Given the description of an element on the screen output the (x, y) to click on. 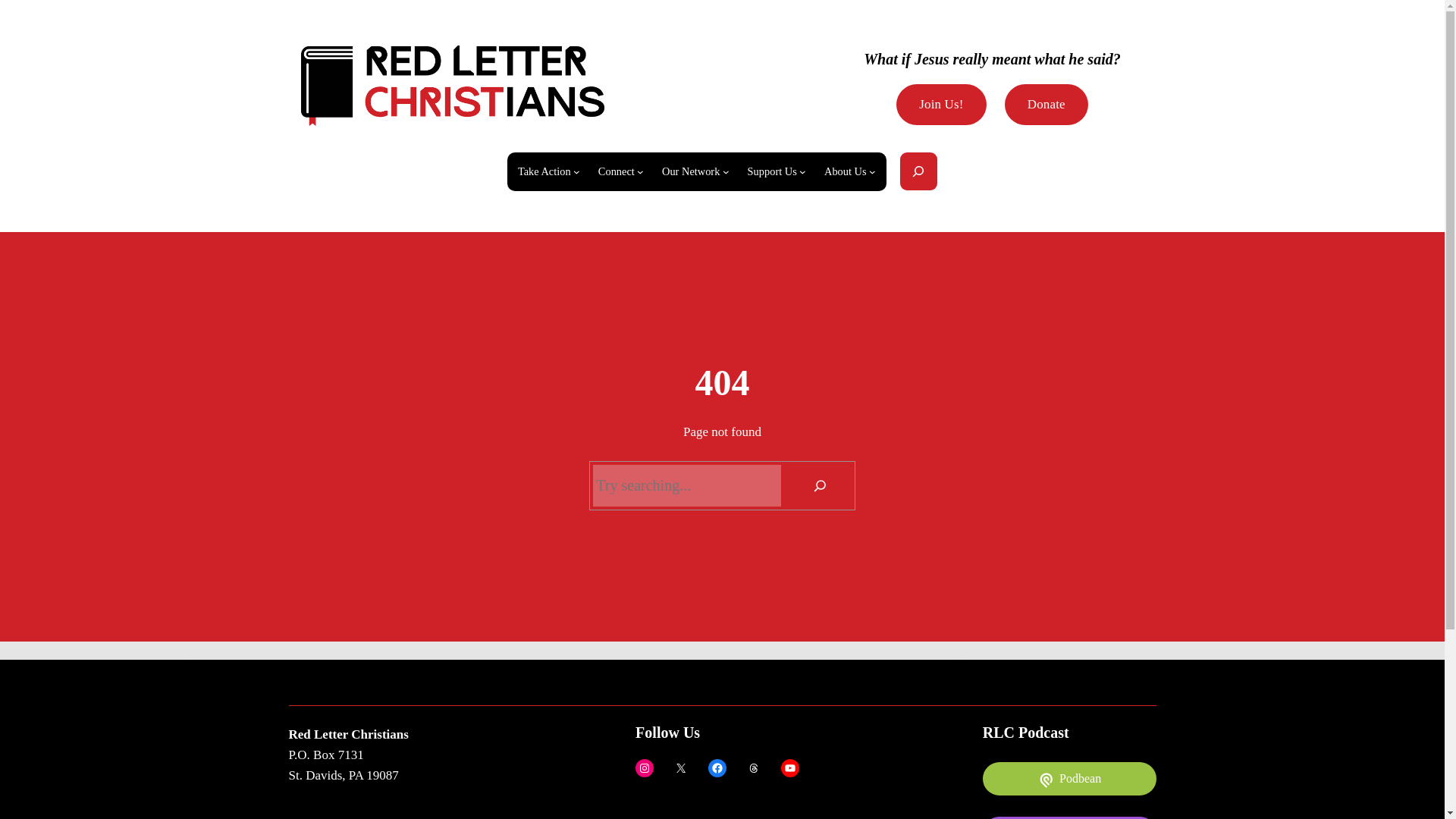
Our Network (690, 171)
Donate (1045, 104)
Connect (616, 171)
Take Action (544, 171)
Join Us! (941, 104)
Support Us (772, 171)
